Given the description of an element on the screen output the (x, y) to click on. 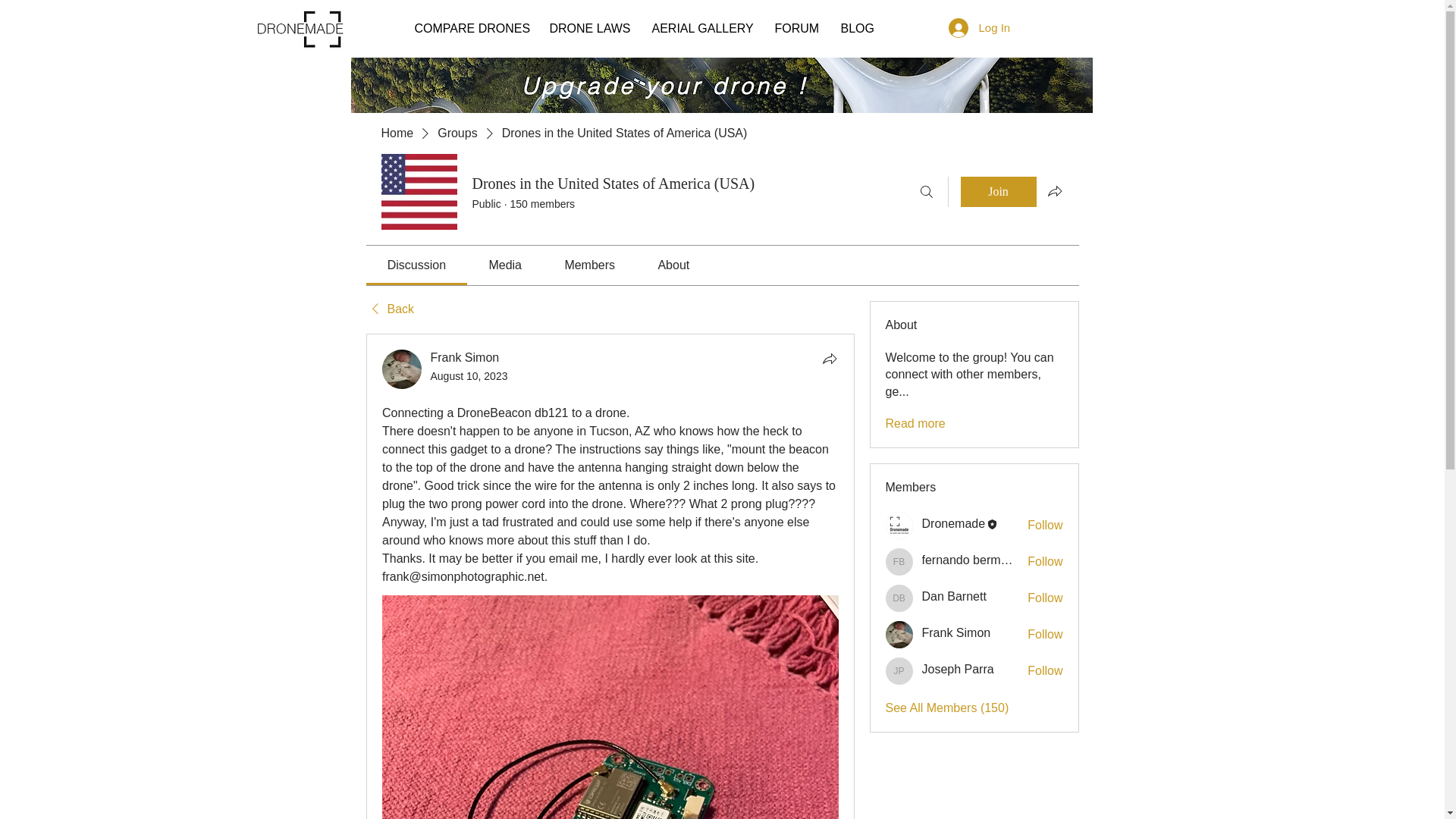
Log In (977, 27)
COMPARE DRONES (470, 28)
August 10, 2023 (469, 376)
Dronemade (953, 522)
BLOG (857, 28)
Read more (914, 423)
Back (389, 309)
Dan Barnett (954, 595)
fernando bermudez (974, 559)
FORUM (795, 28)
